Given the description of an element on the screen output the (x, y) to click on. 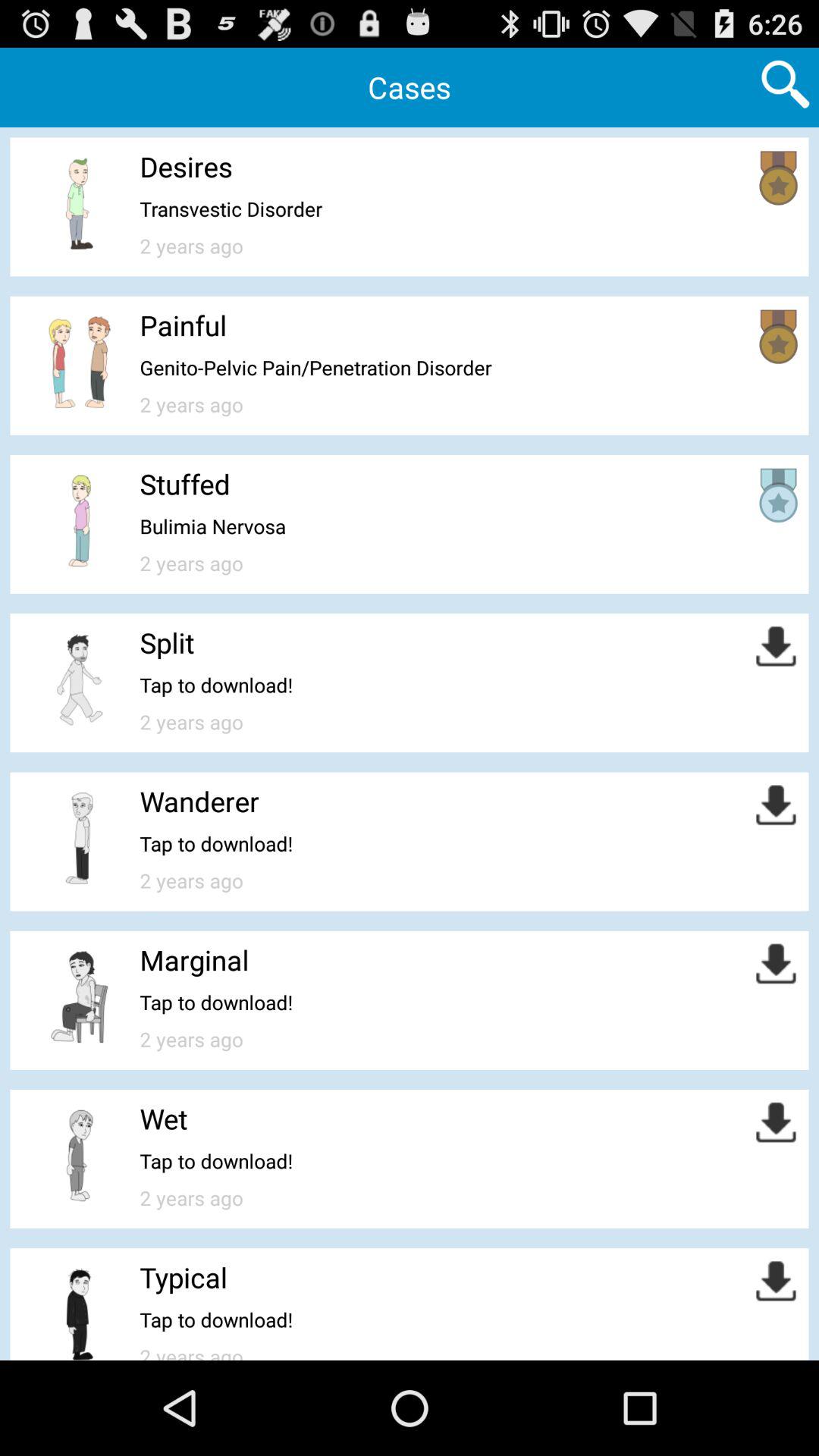
choose icon above the tap to download! app (163, 1118)
